Given the description of an element on the screen output the (x, y) to click on. 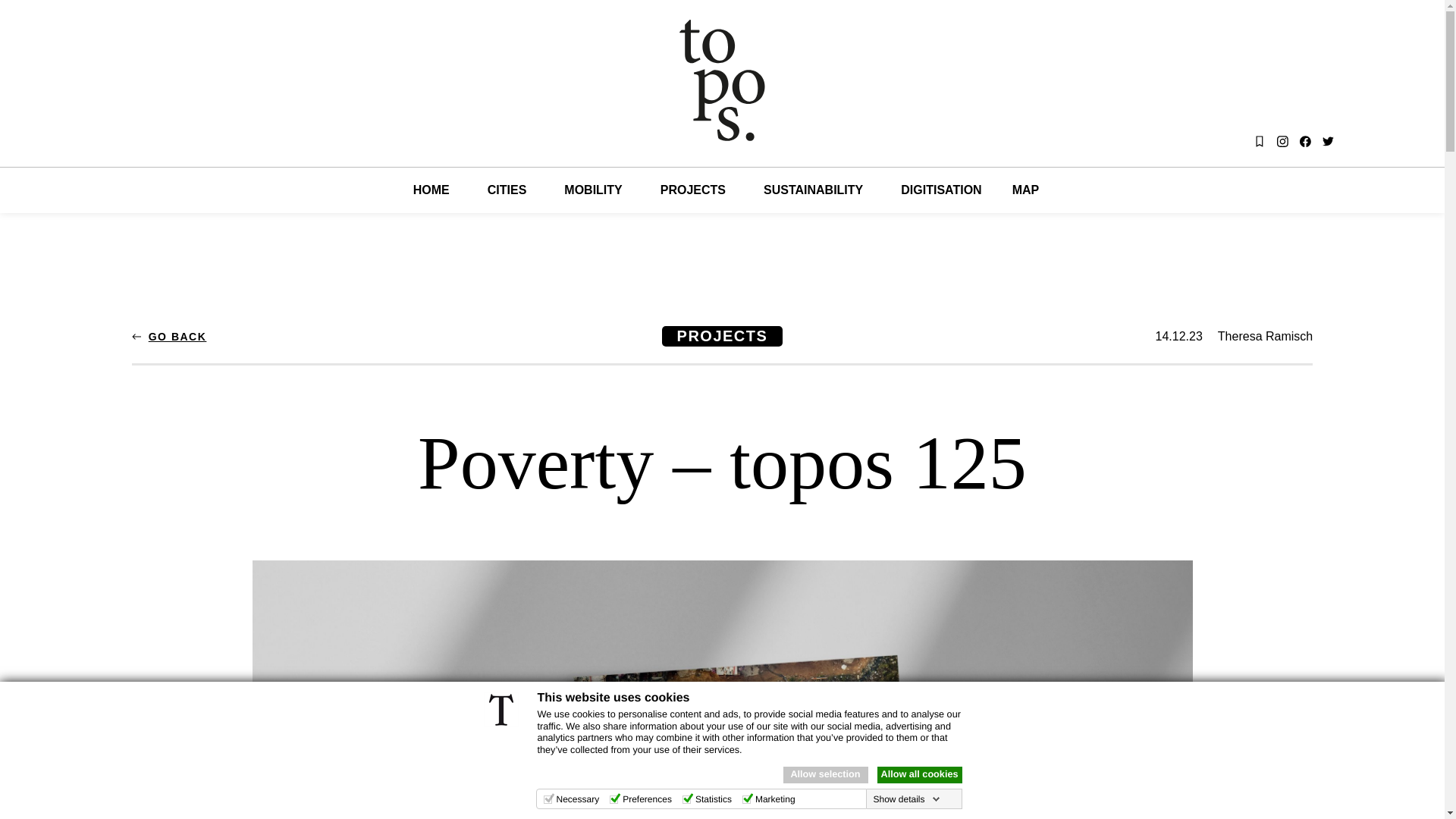
Show details (905, 799)
Allow selection (825, 774)
Allow all cookies (918, 774)
